Given the description of an element on the screen output the (x, y) to click on. 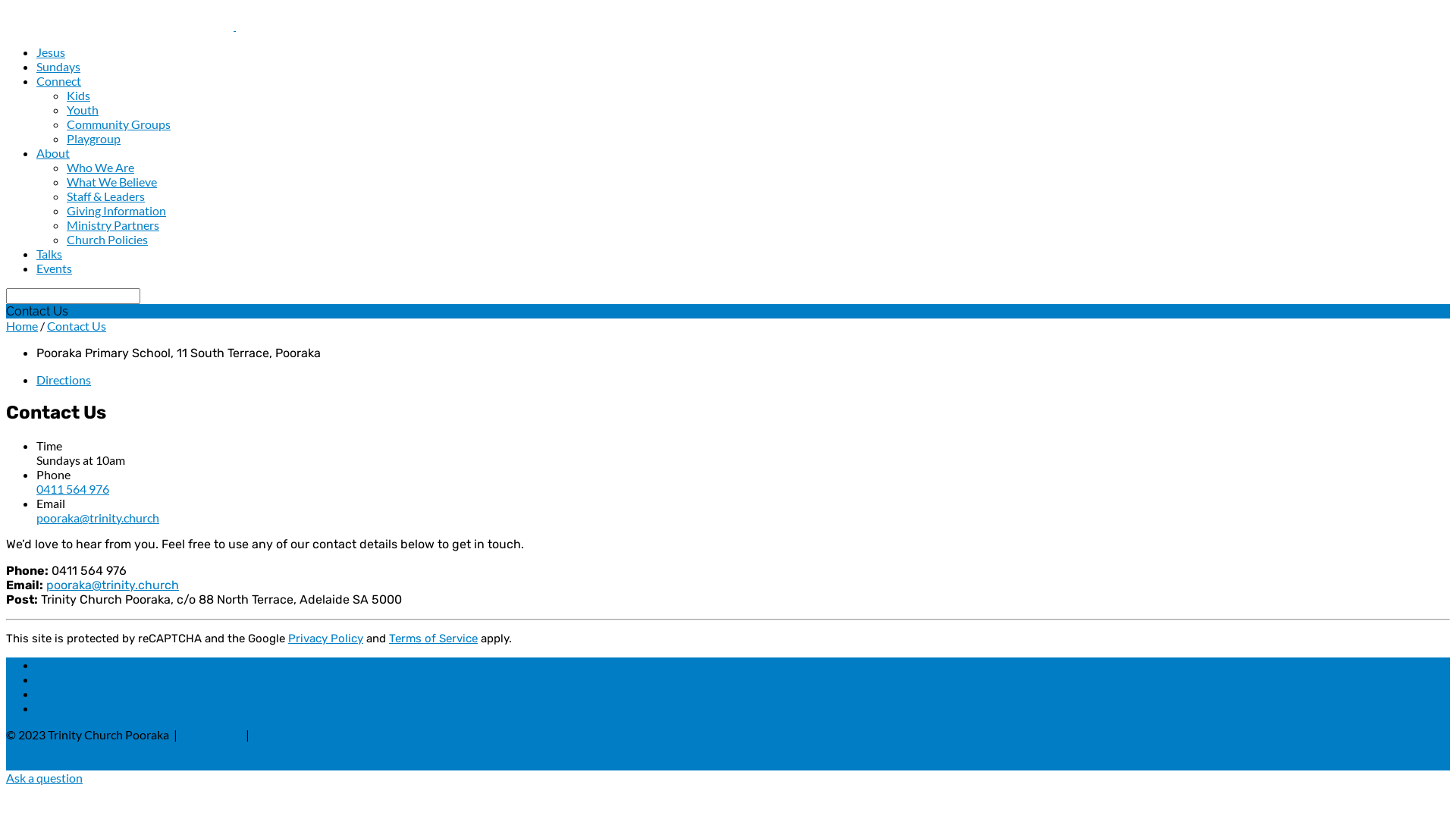
Jesus Element type: text (50, 51)
Directions Element type: text (63, 379)
Church Policies Element type: text (294, 734)
What We Believe Element type: text (111, 181)
Staff & Leaders Element type: text (105, 195)
Ministry Partners Element type: text (112, 224)
Playgroup Element type: text (93, 138)
Events Element type: text (54, 267)
Terms of Service Element type: text (433, 638)
Connect Element type: text (58, 80)
Community Groups Element type: text (118, 123)
Ask a question Element type: text (44, 777)
pooraka@trinity.church Element type: text (112, 584)
Contact Us Element type: text (76, 325)
pooraka@trinity.church Element type: text (97, 517)
0411 564 976 Element type: text (72, 488)
About Element type: text (52, 152)
Sundays Element type: text (58, 66)
Kids Element type: text (78, 94)
Youth Element type: text (82, 109)
Privacy Policy Element type: text (325, 638)
Who We Are Element type: text (100, 167)
Church Policies Element type: text (106, 239)
A Trinity Network Church Element type: text (73, 763)
Giving Information Element type: text (116, 210)
Talks Element type: text (49, 253)
Home Element type: text (21, 325)
Contact Us Element type: text (211, 734)
